Given the description of an element on the screen output the (x, y) to click on. 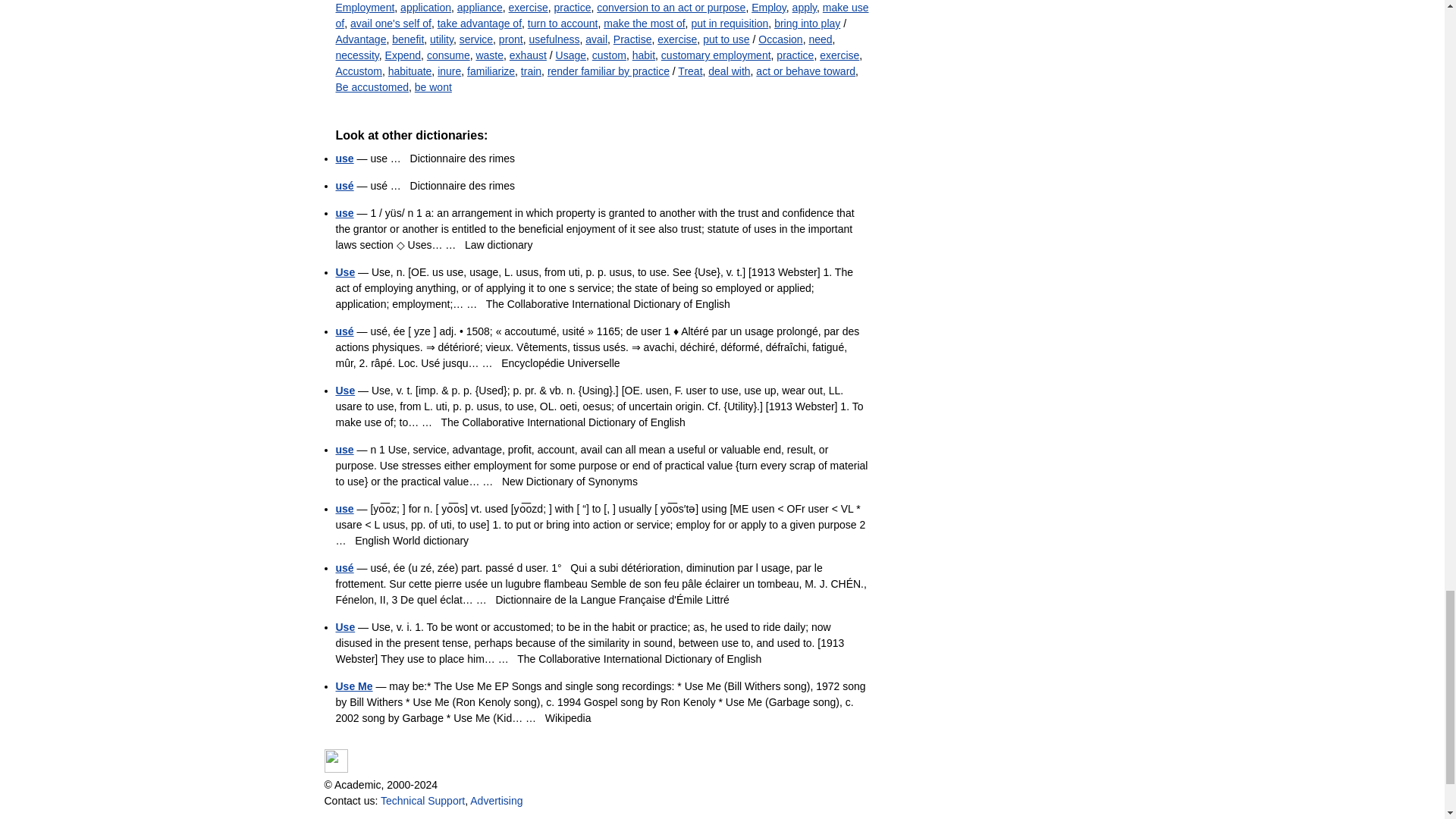
LiveInternet (335, 761)
